Given the description of an element on the screen output the (x, y) to click on. 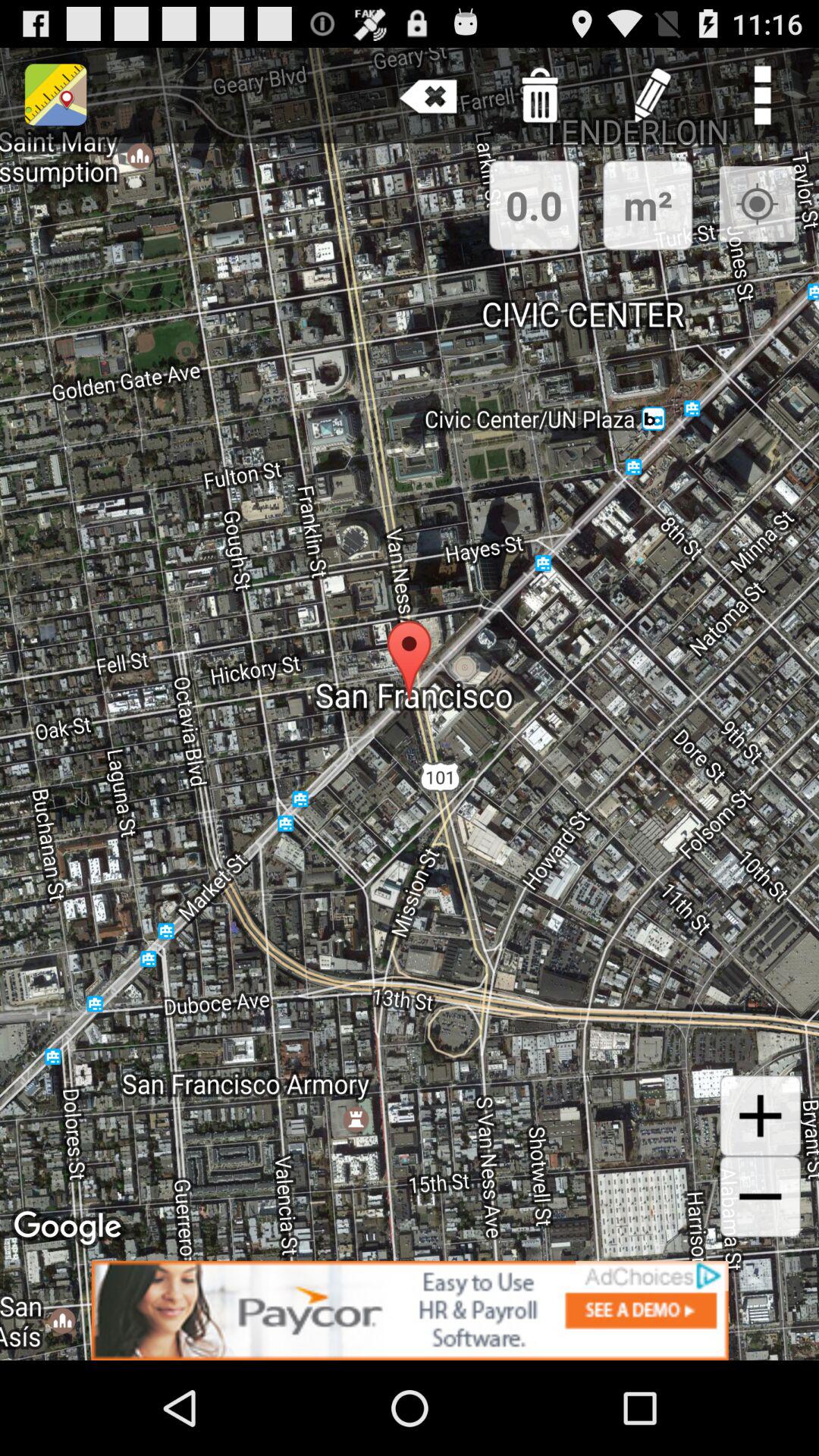
launch item above the 0.0 icon (540, 95)
